Given the description of an element on the screen output the (x, y) to click on. 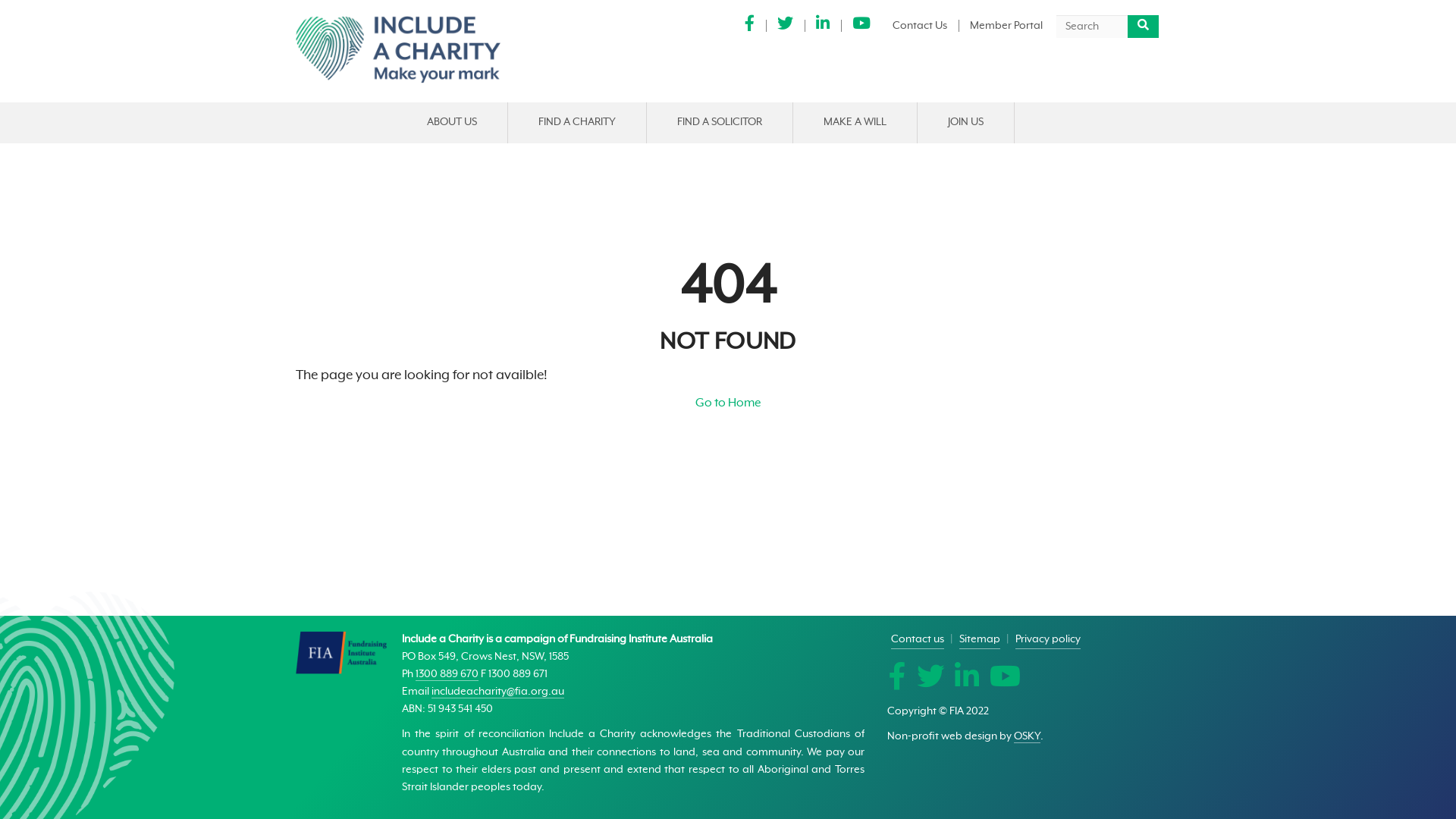
LAW SOCIETY DIRECTORY Element type: text (721, 162)
Go to Home Element type: text (727, 403)
MAKE A WILL Element type: text (854, 122)
Member Portal Element type: text (1011, 25)
FIND A CHARITY Element type: text (577, 122)
OSKY Element type: text (1026, 736)
includeacharity@fia.org.au Element type: text (497, 691)
FIND A SOLICITOR Element type: text (718, 122)
Contact Us Element type: text (925, 25)
JOIN US Element type: text (965, 122)
WHO WE ARE Element type: text (471, 162)
1300 889 670 Element type: text (446, 674)
Contact us Element type: text (917, 639)
GIFTS IN WILLS STORIES Element type: text (868, 162)
Privacy policy Element type: text (1047, 639)
ABOUT US Element type: text (450, 122)
Sitemap Element type: text (979, 639)
FOR CHARITIES Element type: text (1088, 162)
